Given the description of an element on the screen output the (x, y) to click on. 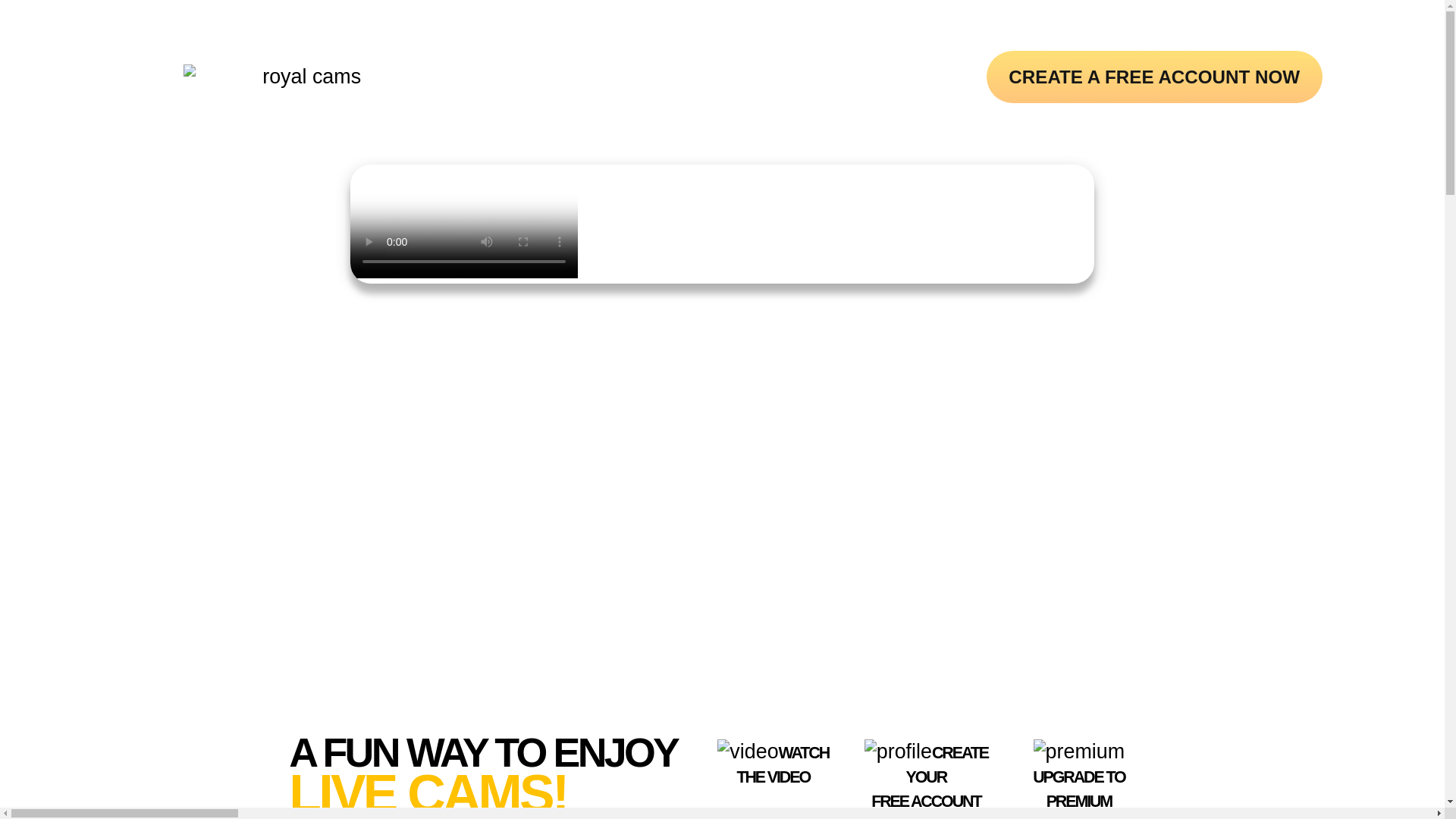
CREATE A FREE ACCOUNT NOW (1154, 76)
